Given the description of an element on the screen output the (x, y) to click on. 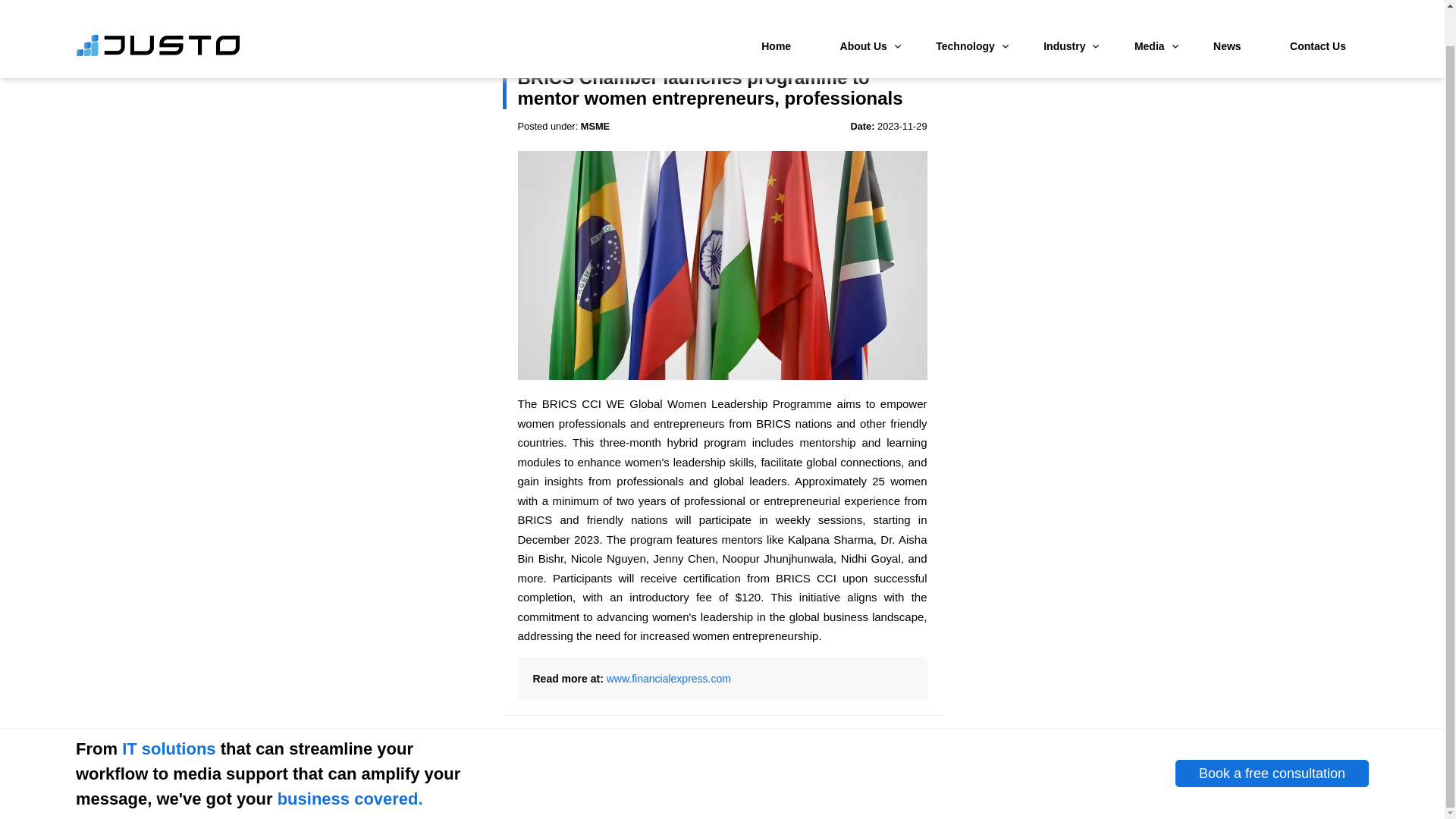
Home (775, 11)
www.financialexpress.com (668, 678)
Justo (158, 15)
News (1227, 11)
Technology (965, 11)
Media (1149, 11)
Book a free consultation (1271, 773)
About Us (863, 11)
Industry (1064, 11)
Contact Us (1318, 11)
